Given the description of an element on the screen output the (x, y) to click on. 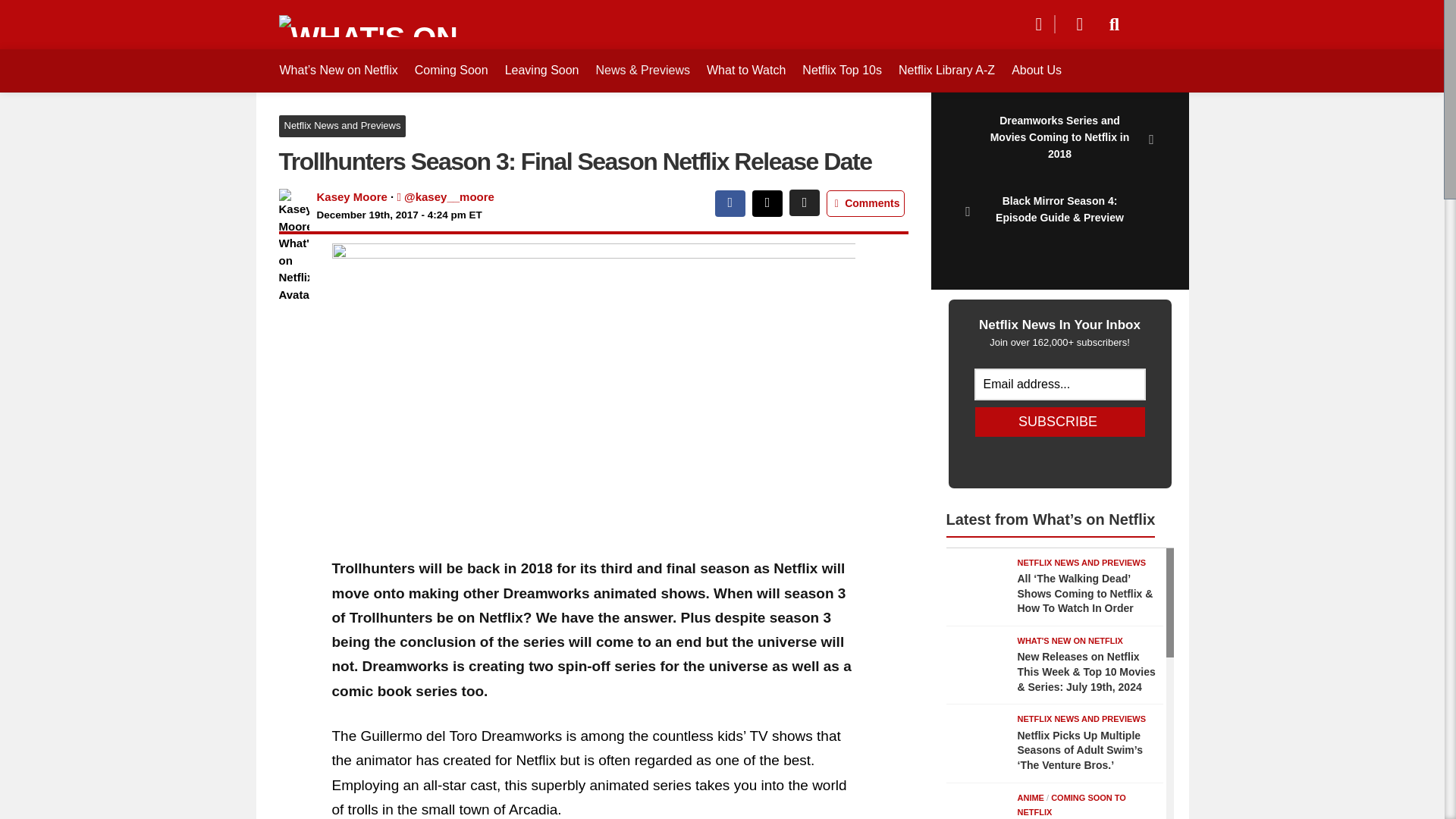
Subscribe  (1059, 421)
Dreamworks Series and Movies Coming to Netflix in 2018 (1059, 139)
NETFLIX NEWS AND PREVIEWS (1082, 718)
Kasey Moore (352, 196)
Leaving Soon (541, 70)
About Us (1036, 70)
Coming Soon (451, 70)
Search What's on Netflix (1114, 24)
Subscribe  (1059, 421)
Posts by Kasey Moore (352, 196)
NETFLIX NEWS AND PREVIEWS (1082, 562)
WHAT'S NEW ON NETFLIX (1069, 640)
Netflix Library A-Z (946, 70)
Netflix News and Previews (342, 126)
New Anime on Netflix in August 2024 (976, 805)
